Given the description of an element on the screen output the (x, y) to click on. 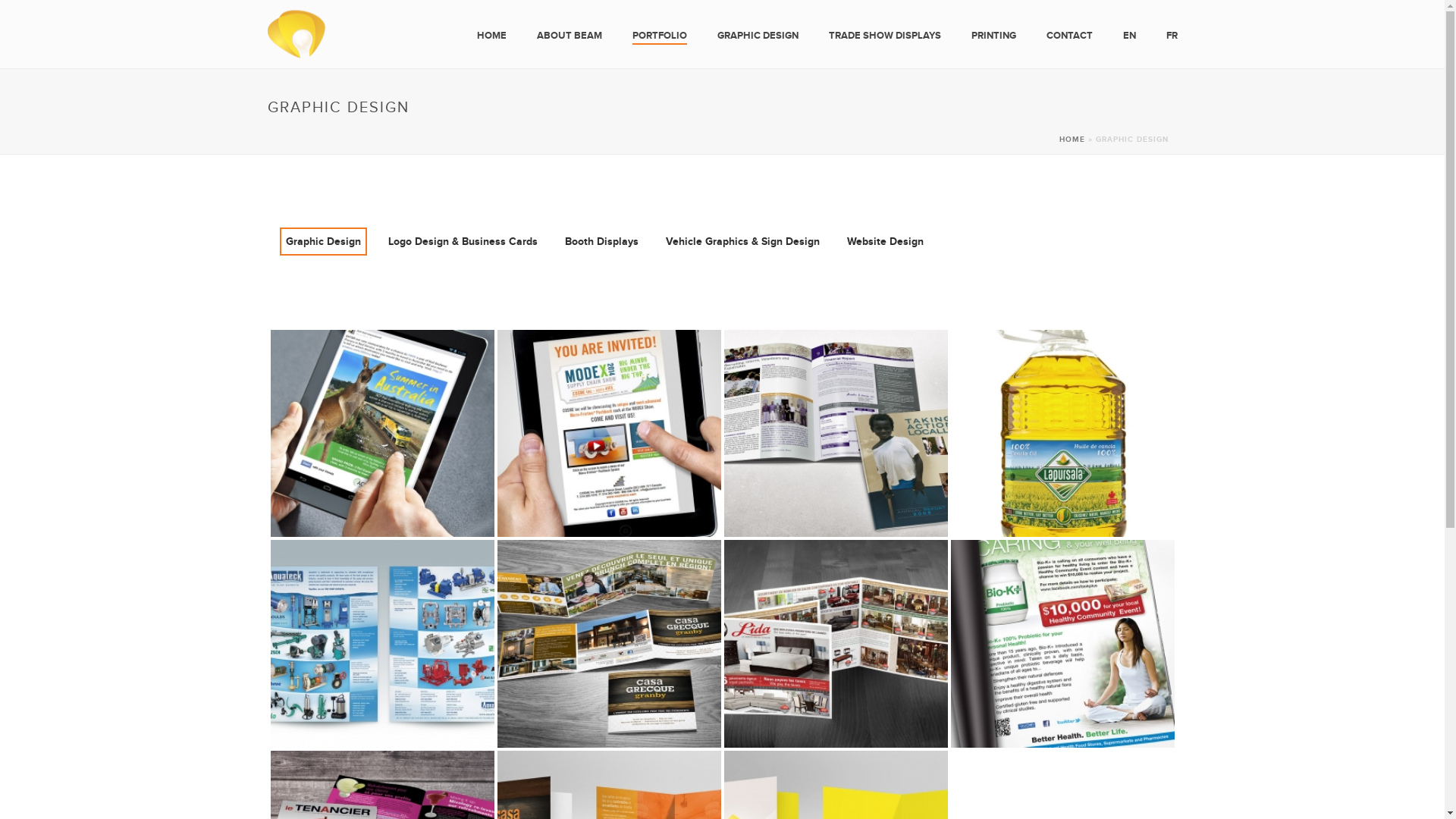
EN Element type: text (1128, 35)
HOME Element type: text (1071, 139)
HOME Element type: text (490, 35)
Graphic Design Element type: text (322, 241)
GRAPHIC DESIGN Element type: text (757, 35)
Booth Displays Element type: text (600, 241)
Full page Advertising in a Magazine Element type: hover (1062, 642)
PORTFOLIO Element type: text (659, 35)
Label design for oil bottle Element type: hover (1062, 432)
CONTACT Element type: text (1069, 35)
Design of an Annual Report Element type: hover (835, 432)
Website Design Element type: text (884, 241)
Logo Design & Business Cards Element type: text (462, 241)
Email Advertising Element type: hover (609, 432)
PRINTING Element type: text (992, 35)
Concept & Artwork for a Facebook Contest Element type: hover (381, 432)
Vehicle Graphics & Sign Design Element type: text (742, 241)
Promotional Brochure for Furniture Store Element type: hover (835, 642)
TRADE SHOW DISPLAYS Element type: text (883, 35)
Restaurant promotional brochure Element type: hover (609, 642)
FR Element type: text (1171, 35)
Sales sheet design Element type: hover (381, 642)
ABOUT BEAM Element type: text (569, 35)
